Given the description of an element on the screen output the (x, y) to click on. 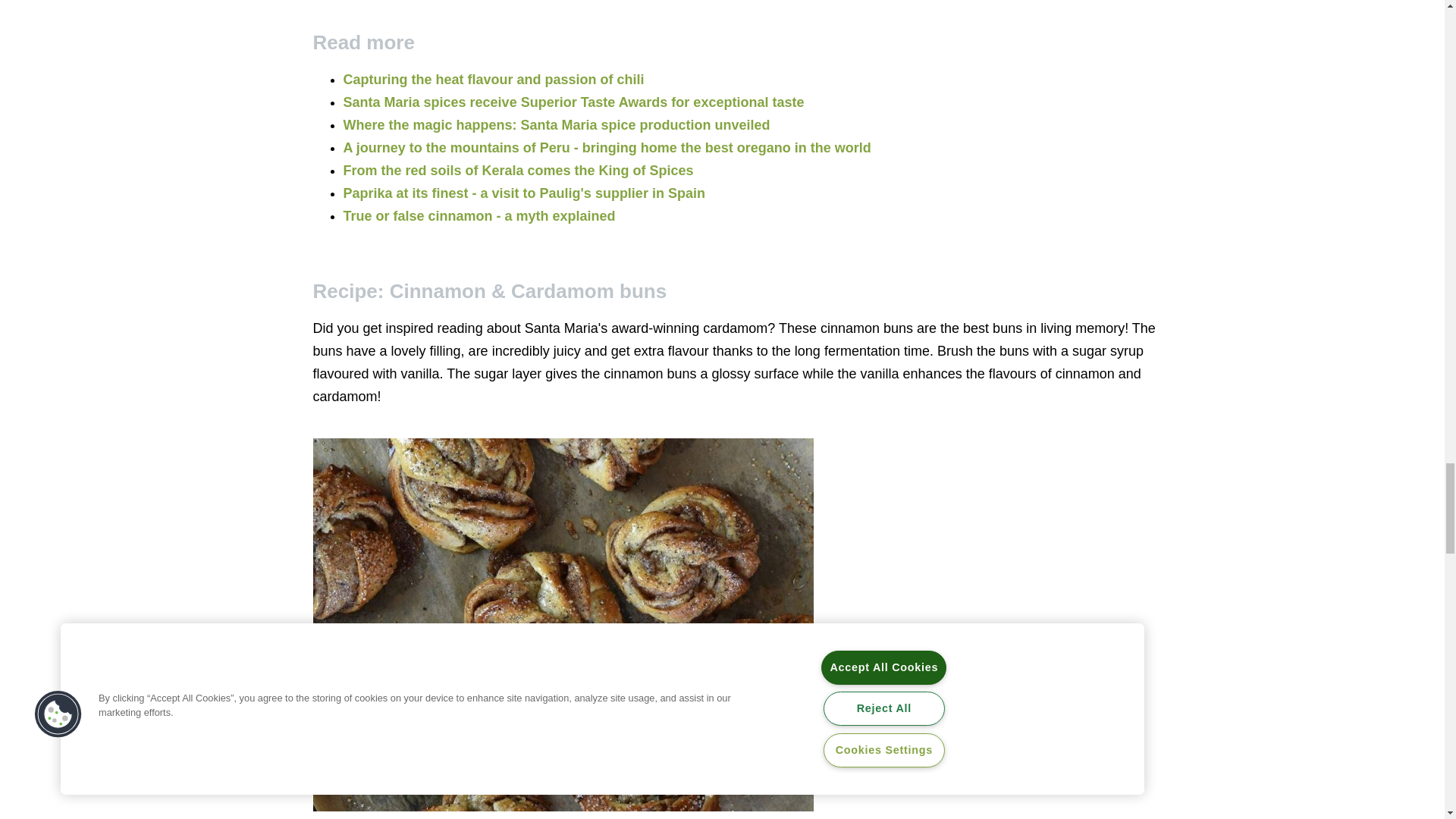
From the red soils of Kerala, comes the King of Spices (517, 170)
True or false cinnamon? A myth explained (478, 215)
